Given the description of an element on the screen output the (x, y) to click on. 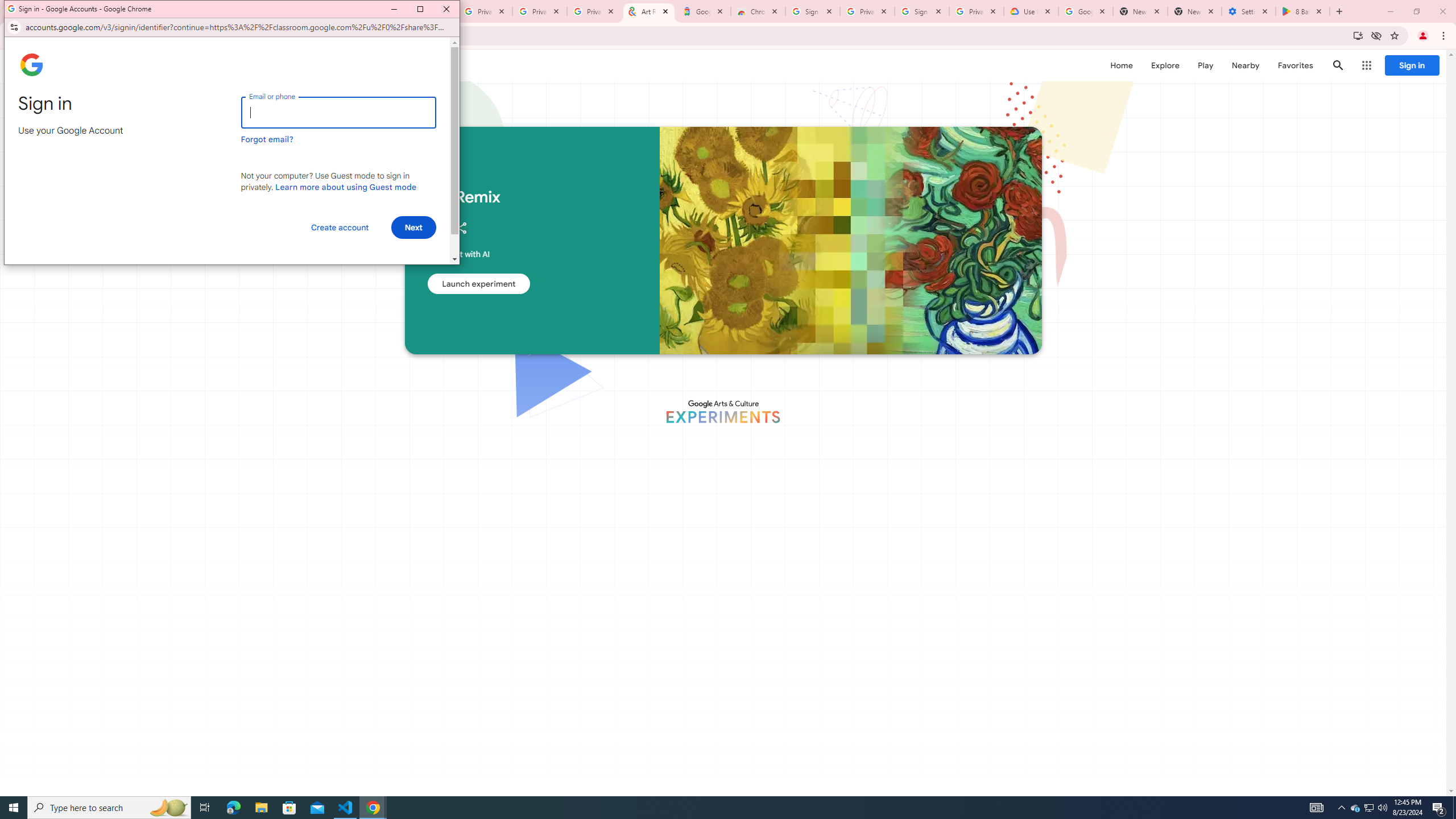
Microsoft Edge (233, 807)
Google Chrome - 2 running windows (373, 807)
Visual Studio Code - 1 running window (345, 807)
User Promoted Notification Area (1368, 807)
Sign in - Google Accounts (812, 11)
Q2790: 100% (1382, 807)
Show desktop (1454, 807)
